Given the description of an element on the screen output the (x, y) to click on. 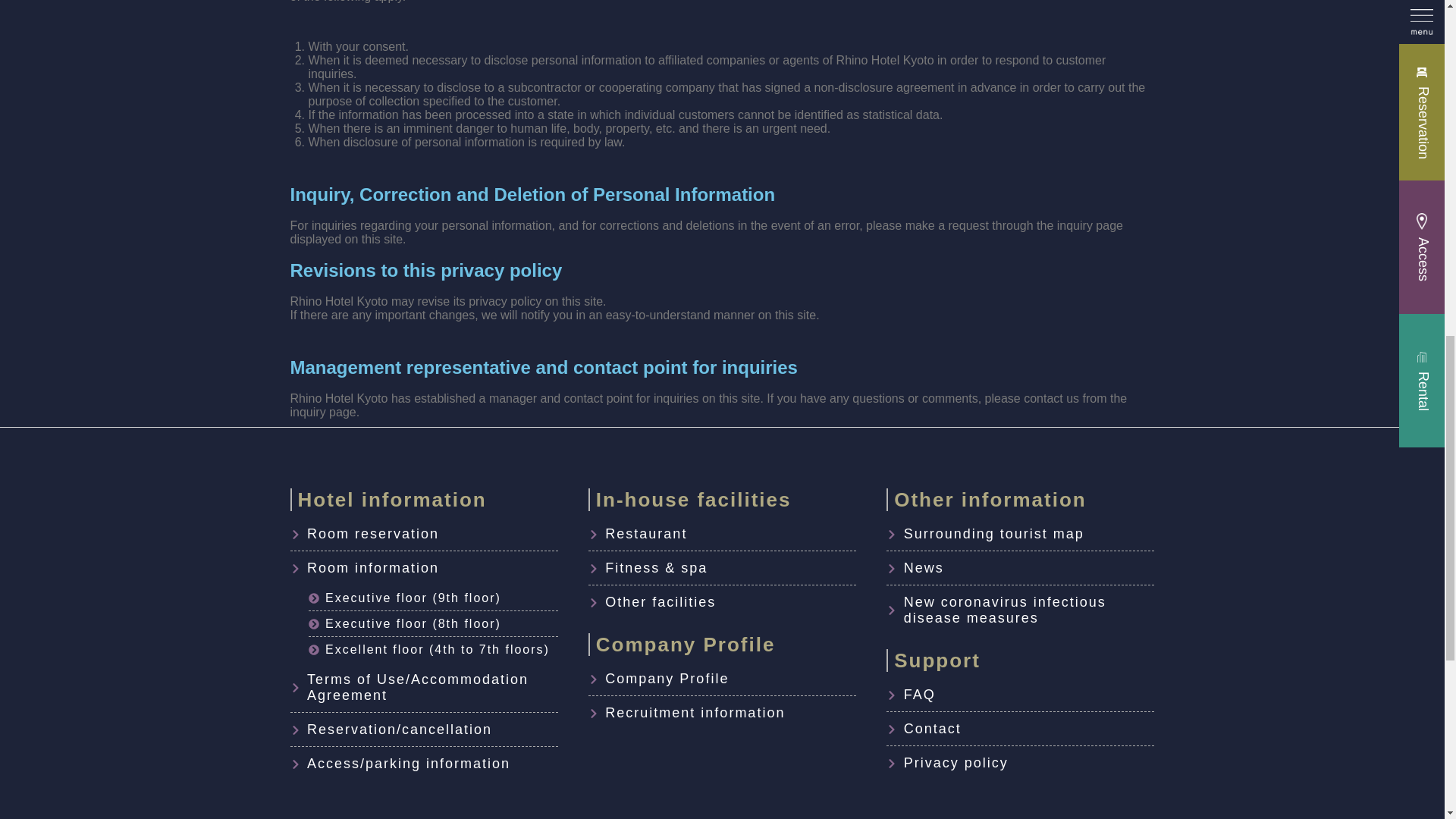
Room reservation (423, 534)
New coronavirus infectious disease measures (1020, 610)
Company Profile (722, 678)
Recruitment information (722, 713)
News (1020, 568)
Room information (423, 568)
Other facilities (722, 602)
Contact (1020, 729)
FAQ (1020, 694)
Restaurant (722, 534)
